Given the description of an element on the screen output the (x, y) to click on. 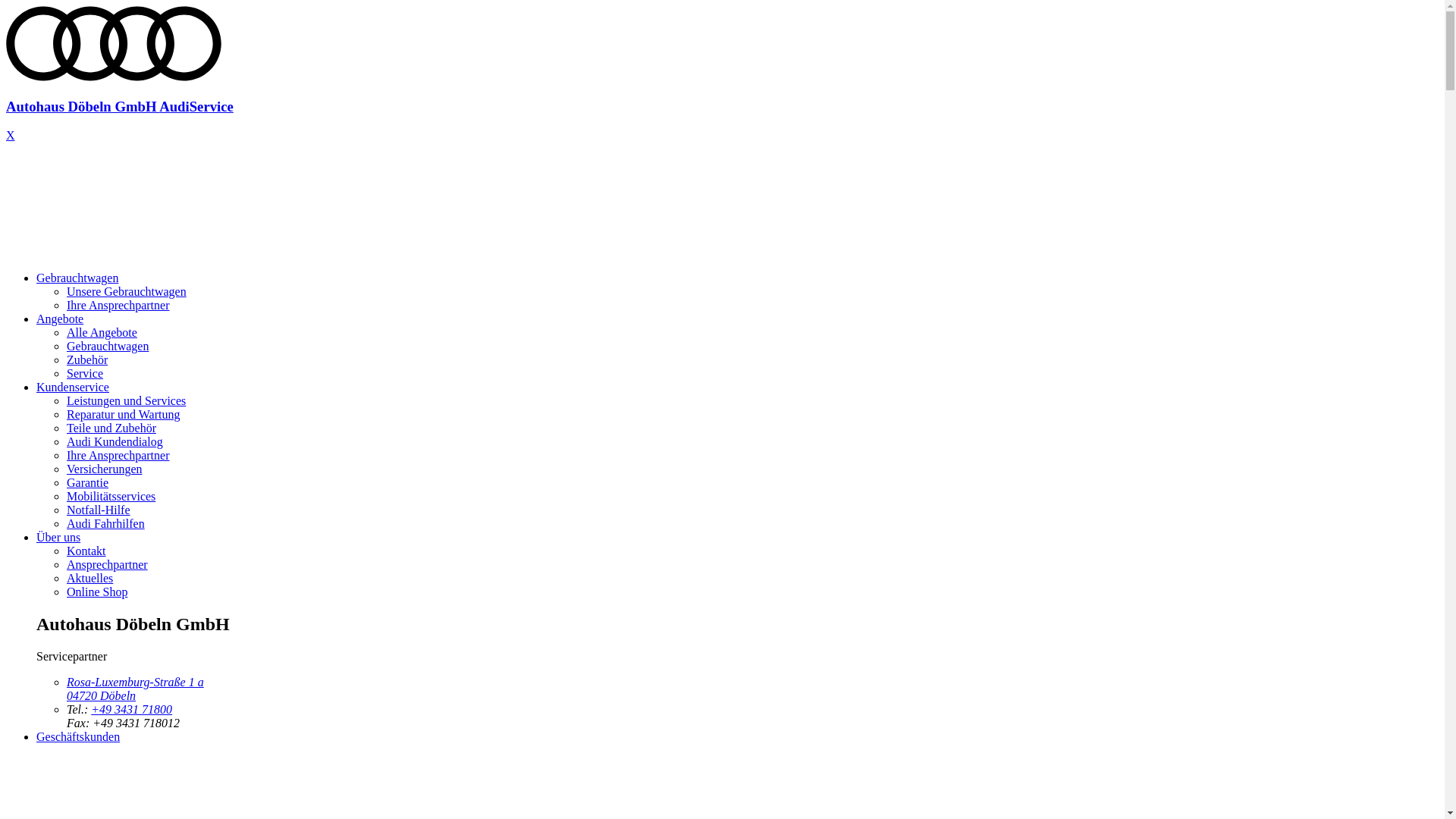
Ihre Ansprechpartner Element type: text (117, 304)
Unsere Gebrauchtwagen Element type: text (126, 291)
Angebote Element type: text (59, 318)
Audi Fahrhilfen Element type: text (105, 523)
Ihre Ansprechpartner Element type: text (117, 454)
Kontakt Element type: text (86, 550)
Audi Kundendialog Element type: text (114, 441)
Leistungen und Services Element type: text (125, 400)
Versicherungen Element type: text (104, 468)
Kundenservice Element type: text (72, 386)
+49 3431 71800 Element type: text (131, 708)
Ansprechpartner Element type: text (106, 564)
Online Shop Element type: text (96, 591)
Notfall-Hilfe Element type: text (98, 509)
Aktuelles Element type: text (89, 577)
Alle Angebote Element type: text (101, 332)
Gebrauchtwagen Element type: text (77, 277)
Reparatur und Wartung Element type: text (122, 413)
X Element type: text (10, 134)
Gebrauchtwagen Element type: text (107, 345)
Garantie Element type: text (87, 482)
Service Element type: text (84, 373)
